Given the description of an element on the screen output the (x, y) to click on. 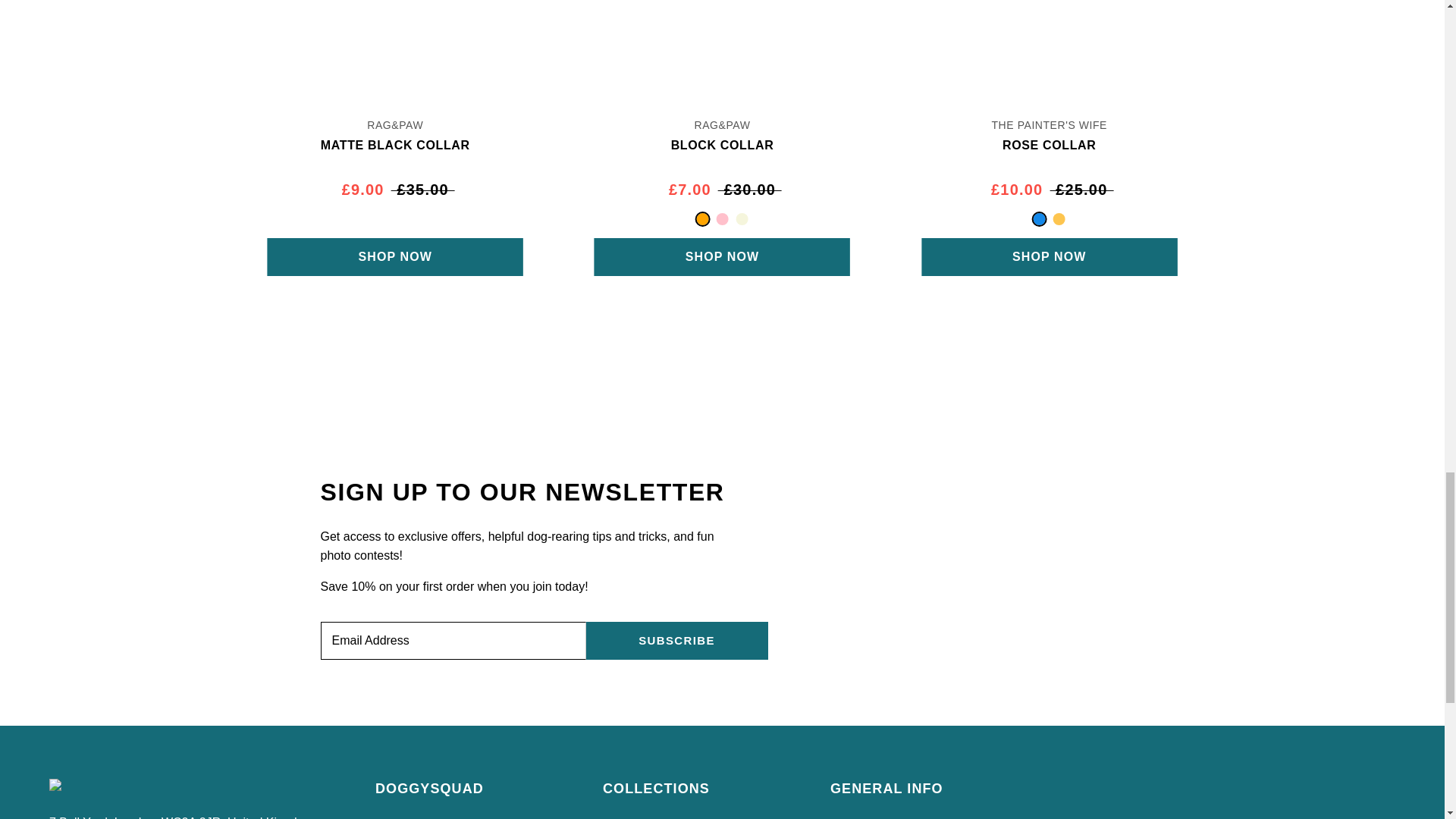
Blue (1039, 218)
Yellow (1058, 218)
Orange (701, 218)
Pink (722, 218)
Beige (741, 218)
